Given the description of an element on the screen output the (x, y) to click on. 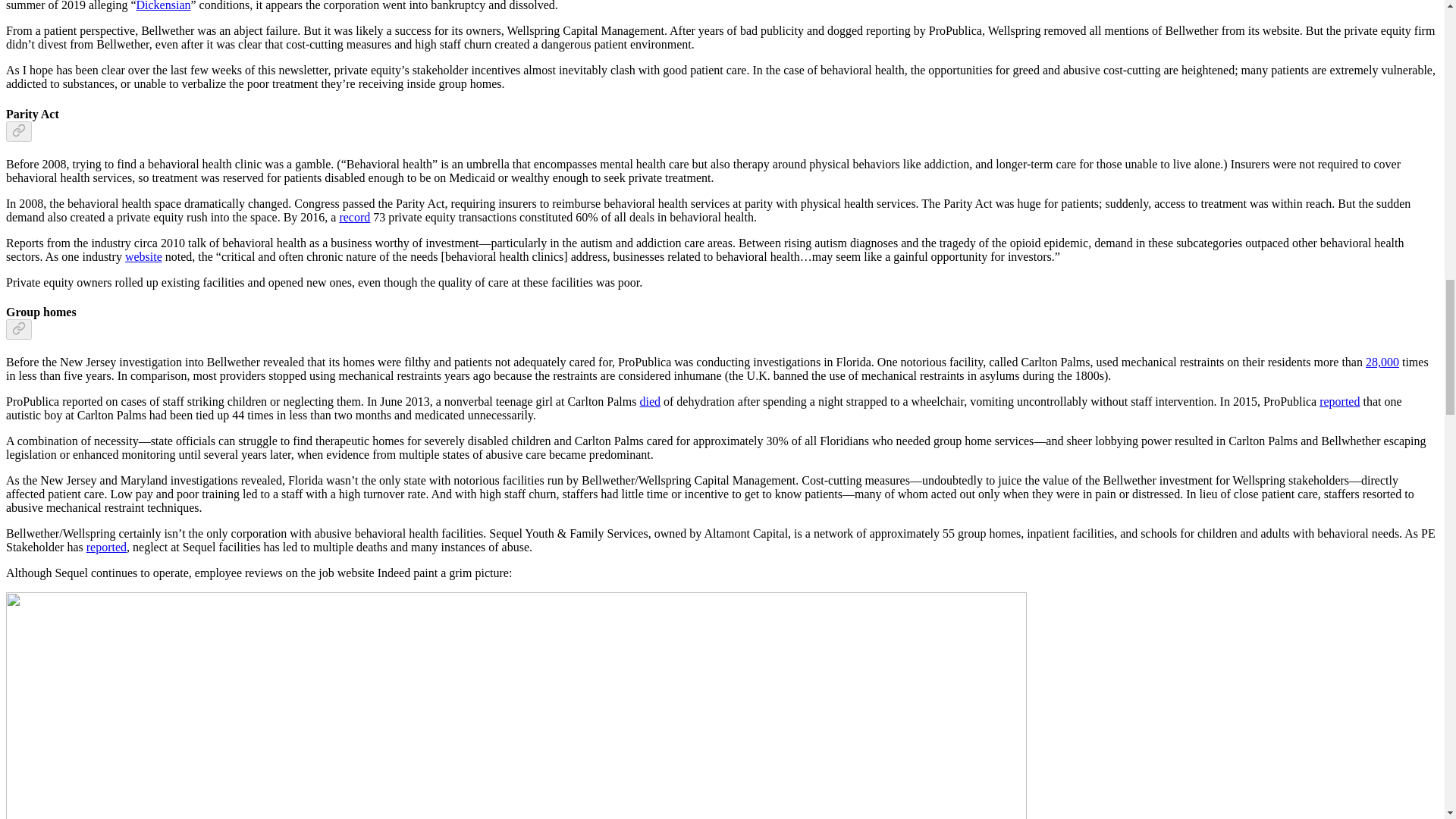
Dickensian (163, 5)
website (143, 256)
record (354, 216)
died (650, 400)
28,000 (1382, 361)
reported (105, 546)
reported (1339, 400)
